Given the description of an element on the screen output the (x, y) to click on. 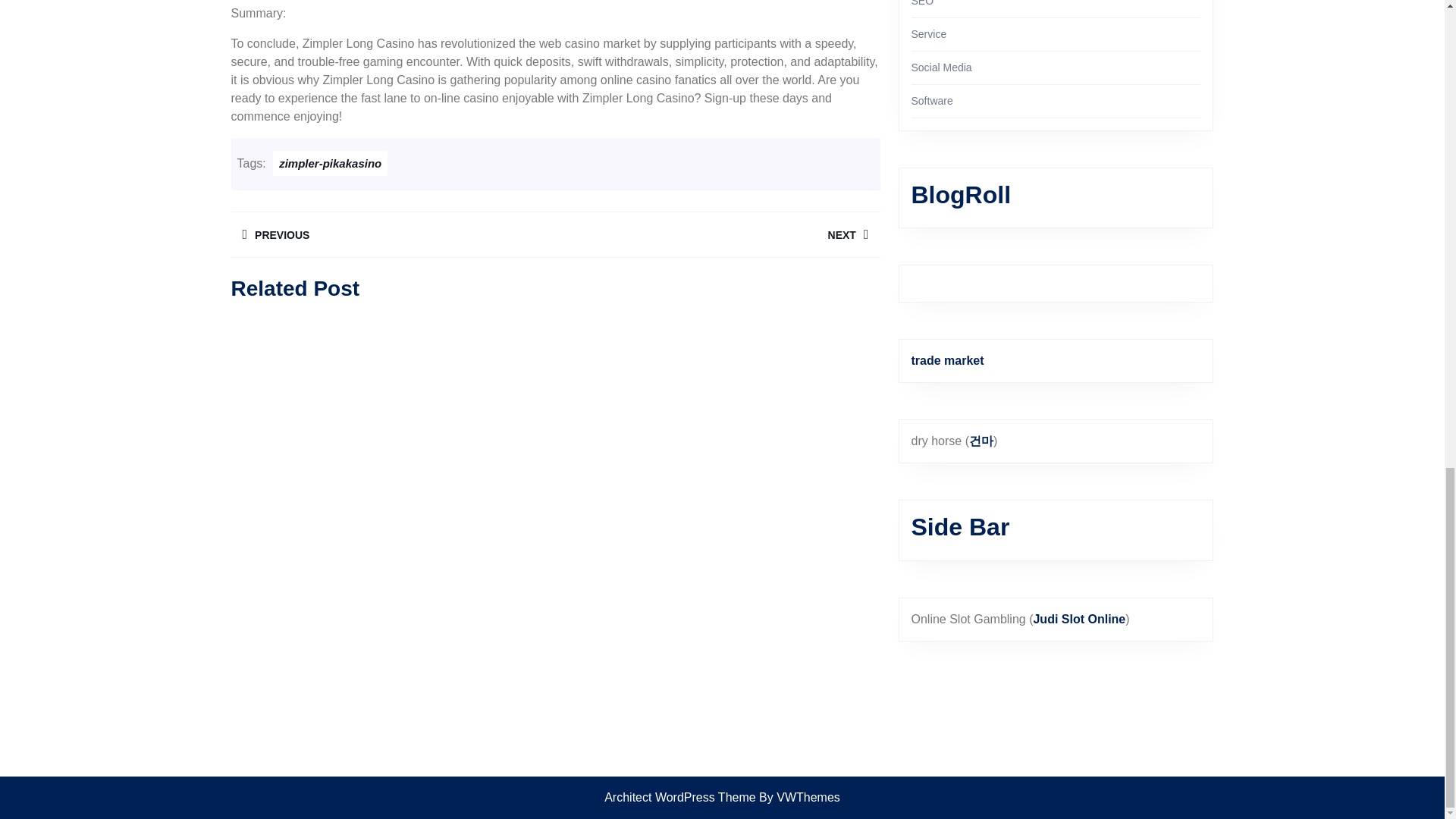
zimpler-pikakasino (392, 234)
